Given the description of an element on the screen output the (x, y) to click on. 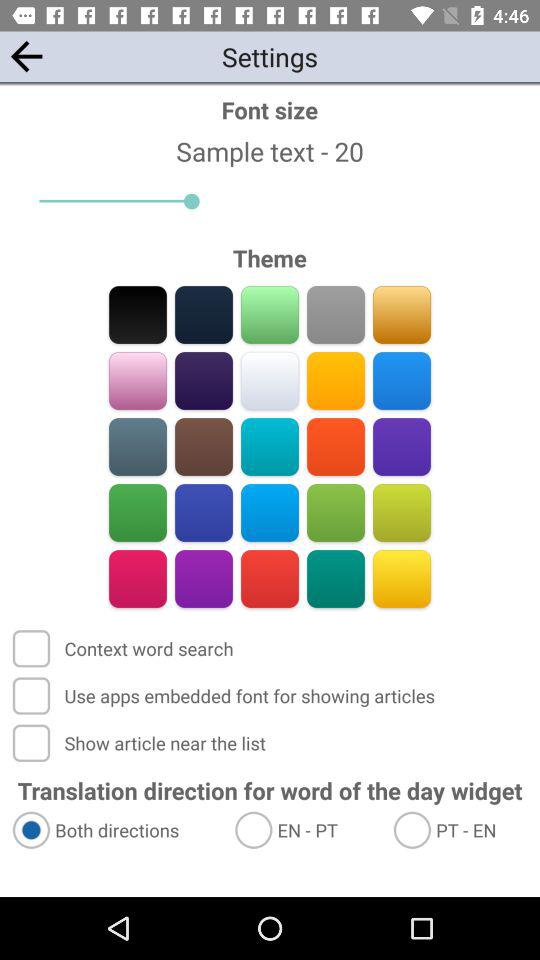
select color option yellow (401, 578)
